Given the description of an element on the screen output the (x, y) to click on. 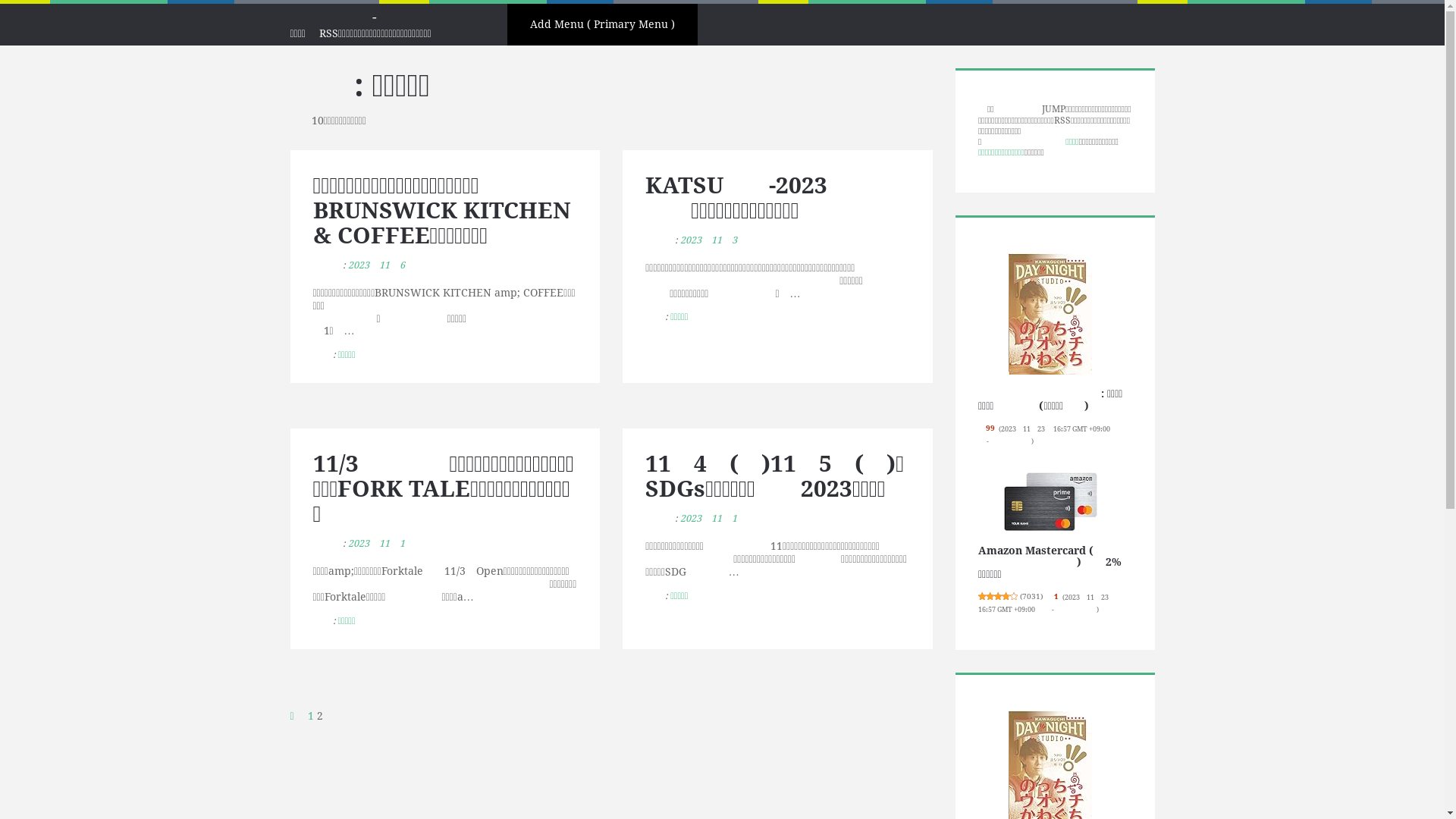
Add Menu ( Primary Menu ) Element type: text (601, 24)
7031 Element type: text (1031, 596)
1 Element type: text (310, 715)
